Given the description of an element on the screen output the (x, y) to click on. 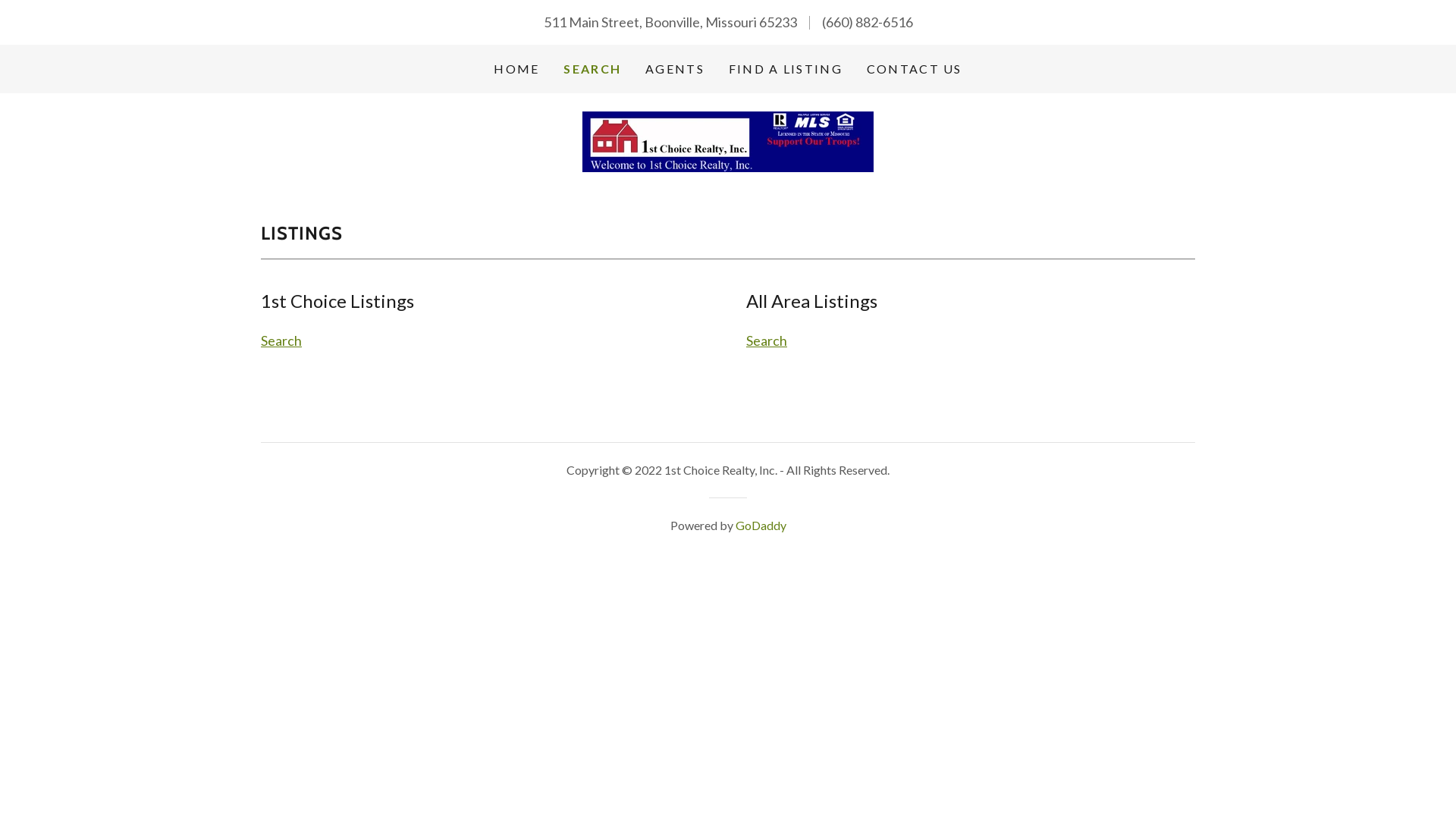
(660) 882-6516 Element type: text (867, 21)
GoDaddy Element type: text (760, 524)
Search Element type: text (280, 340)
SEARCH Element type: text (592, 68)
CONTACT US Element type: text (914, 68)
HOME Element type: text (516, 68)
FIND A LISTING Element type: text (785, 68)
Search Element type: text (766, 340)
AGENTS Element type: text (674, 68)
1st Choice Realty, Inc. Element type: hover (727, 139)
